Given the description of an element on the screen output the (x, y) to click on. 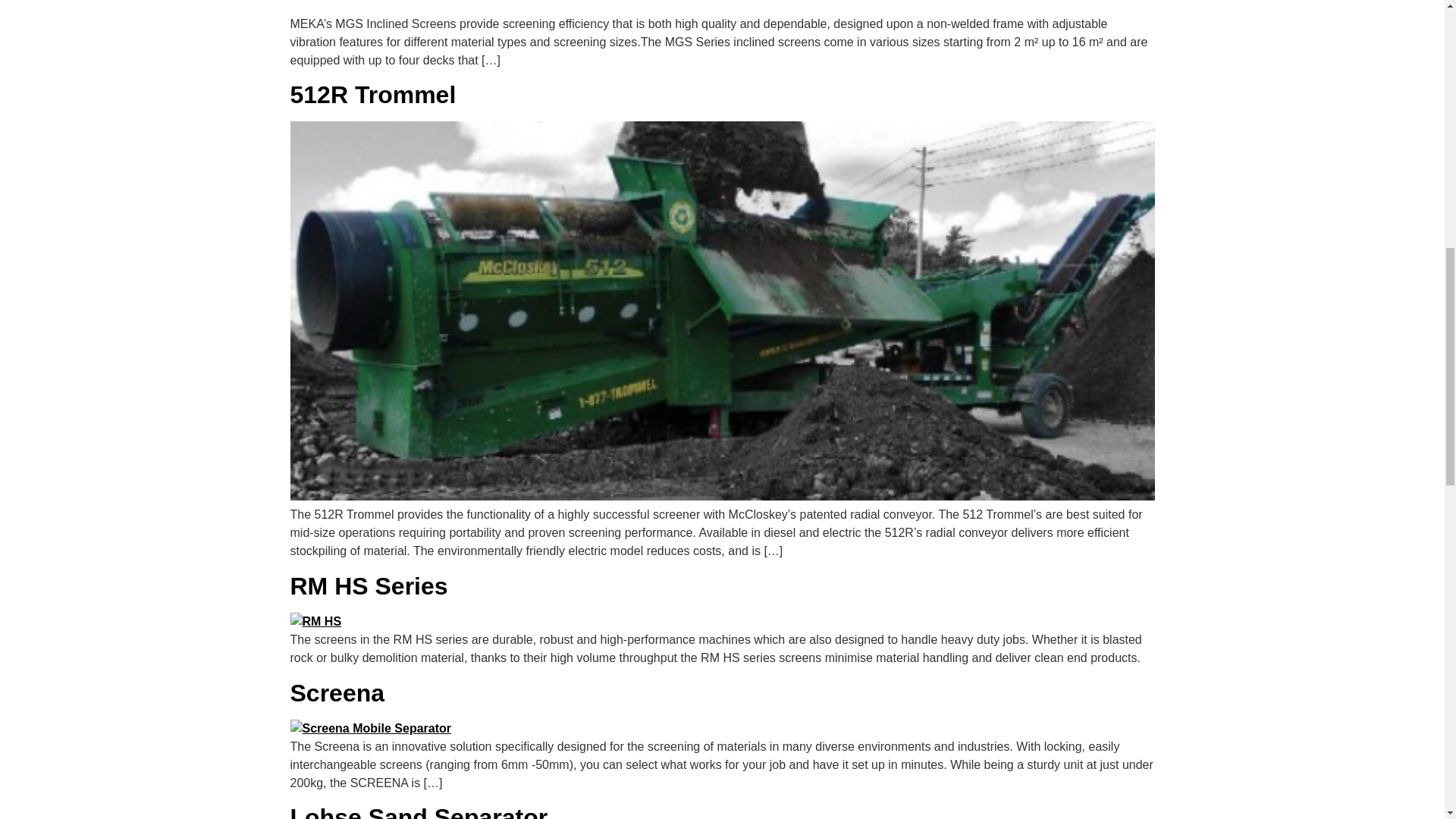
RM HS Series (367, 585)
Lohse Sand Separator (418, 811)
512R Trommel (372, 94)
Screena (336, 692)
